Given the description of an element on the screen output the (x, y) to click on. 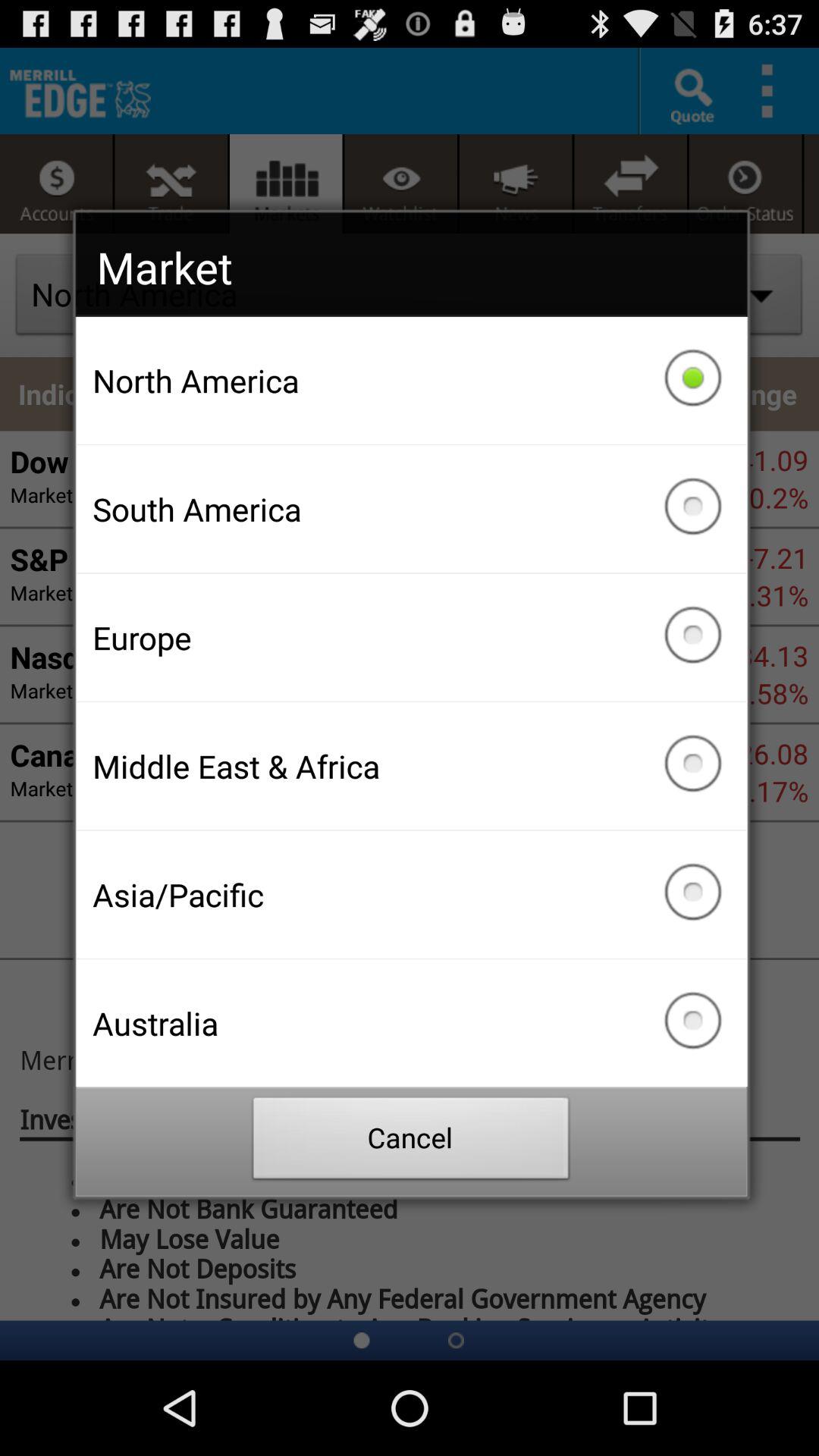
turn on the icon below australia (410, 1142)
